Given the description of an element on the screen output the (x, y) to click on. 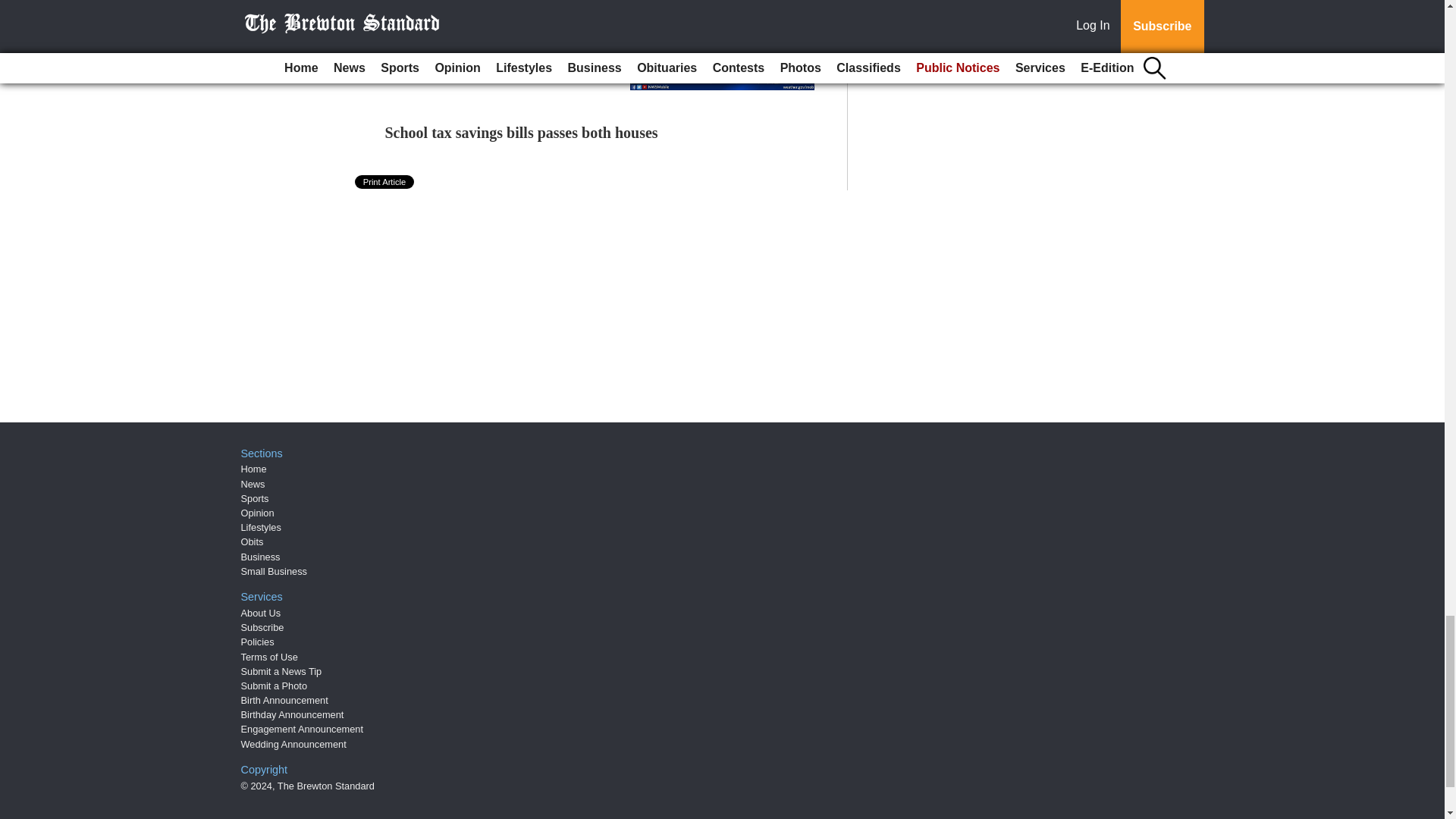
Home (253, 469)
Print Article (384, 182)
School tax savings bills passes both houses (521, 132)
School tax savings bills passes both houses (521, 132)
